Given the description of an element on the screen output the (x, y) to click on. 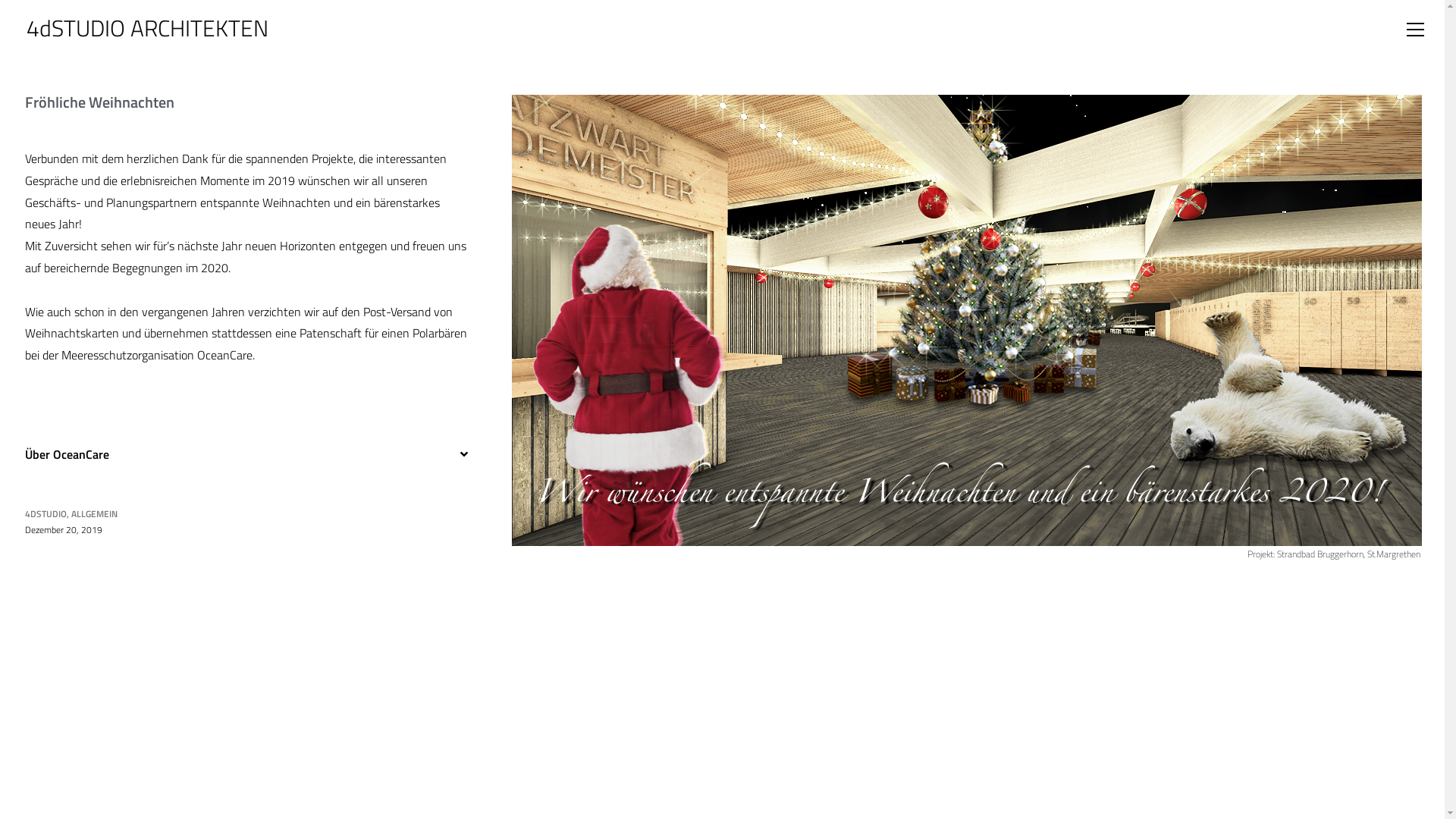
4dSTUDIO ARCHITEKTEN Element type: text (147, 27)
Projekt: Strandbad Bruggerhorn, St.Margrethen Element type: text (1333, 553)
